Given the description of an element on the screen output the (x, y) to click on. 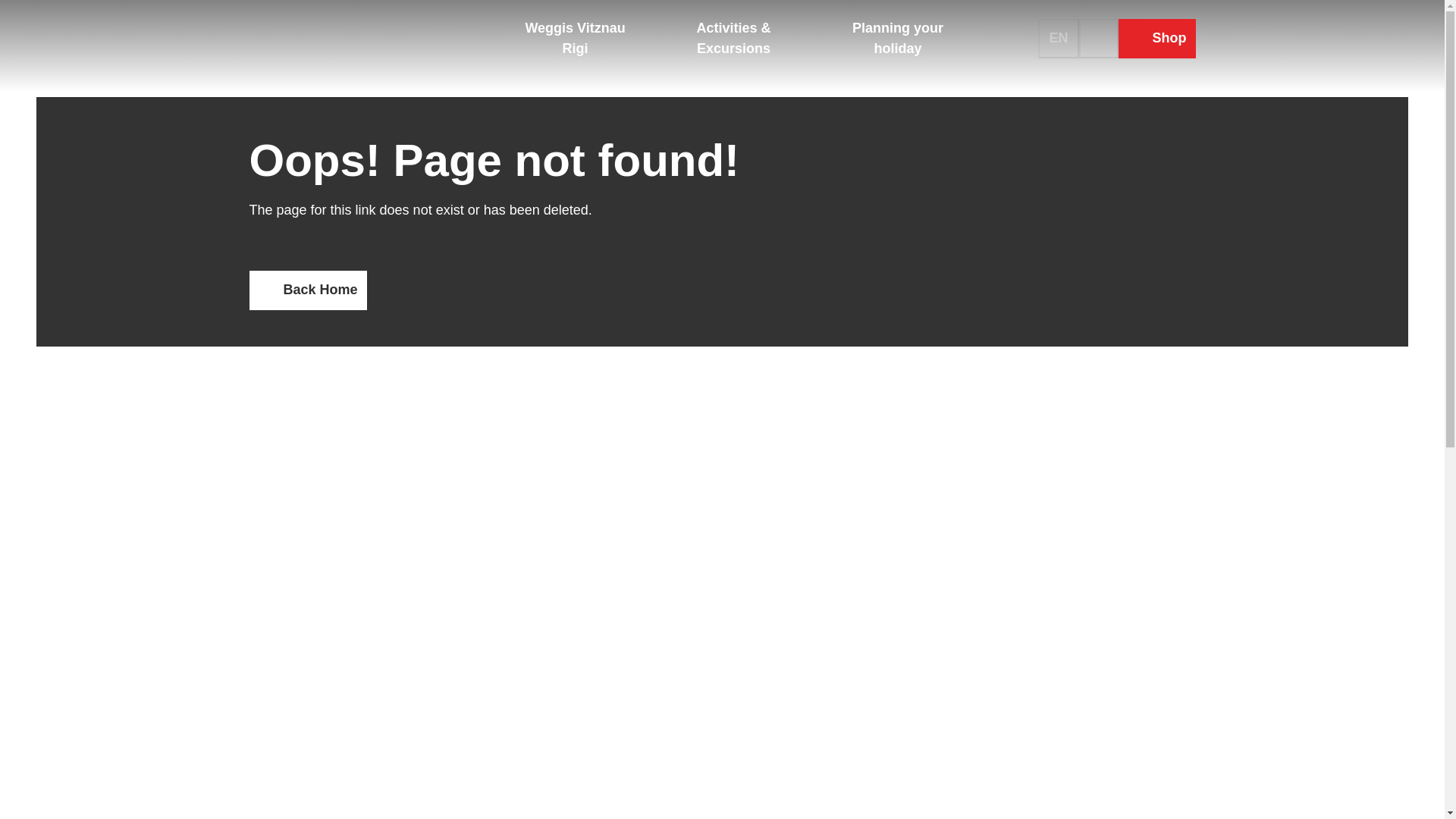
Search (1098, 38)
Back to home page (362, 38)
Weggis Vitznau Rigi (574, 38)
Webcams (1019, 38)
